Given the description of an element on the screen output the (x, y) to click on. 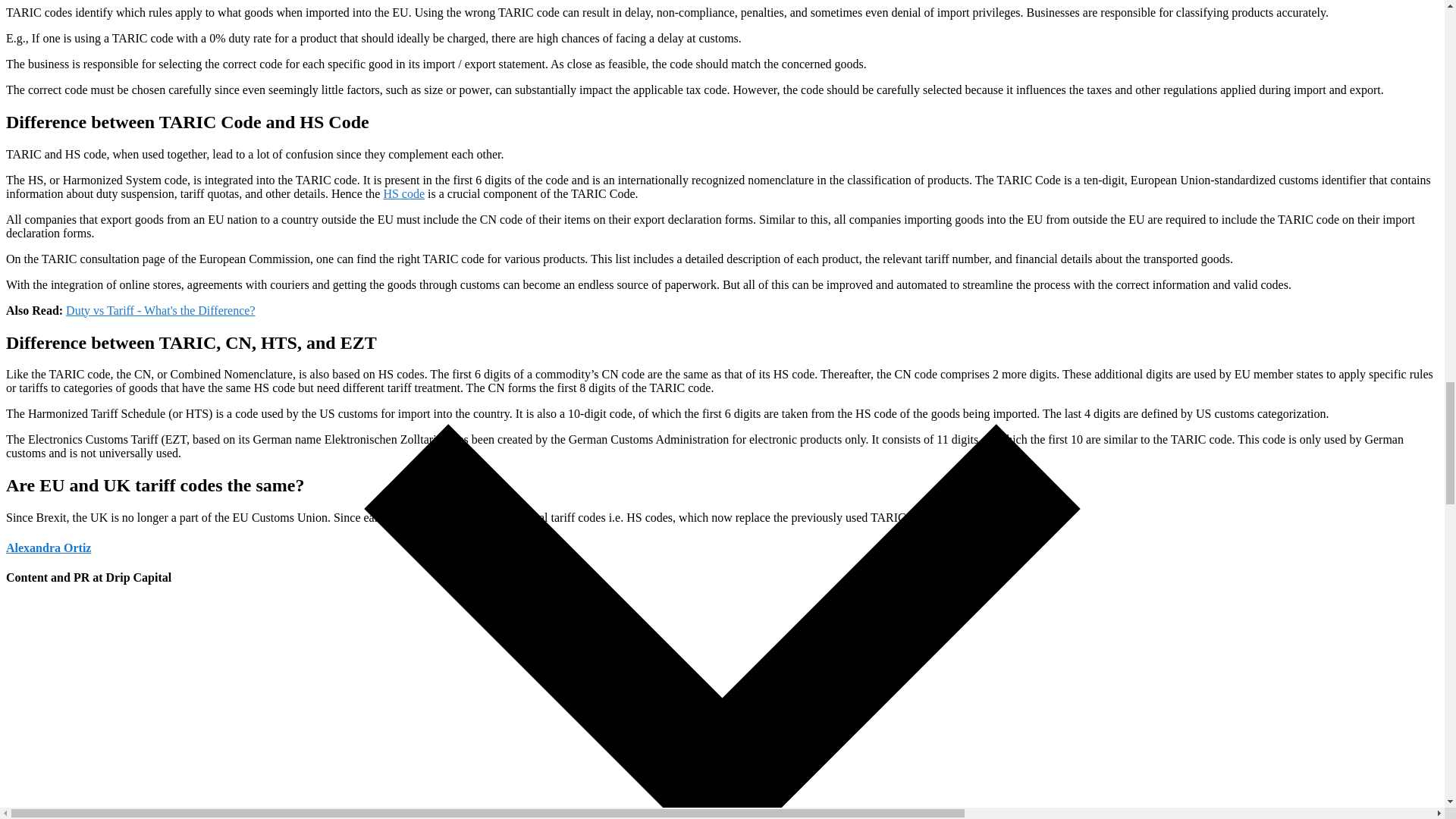
HS code (403, 193)
Duty vs Tariff - What's the Difference? (159, 309)
